Given the description of an element on the screen output the (x, y) to click on. 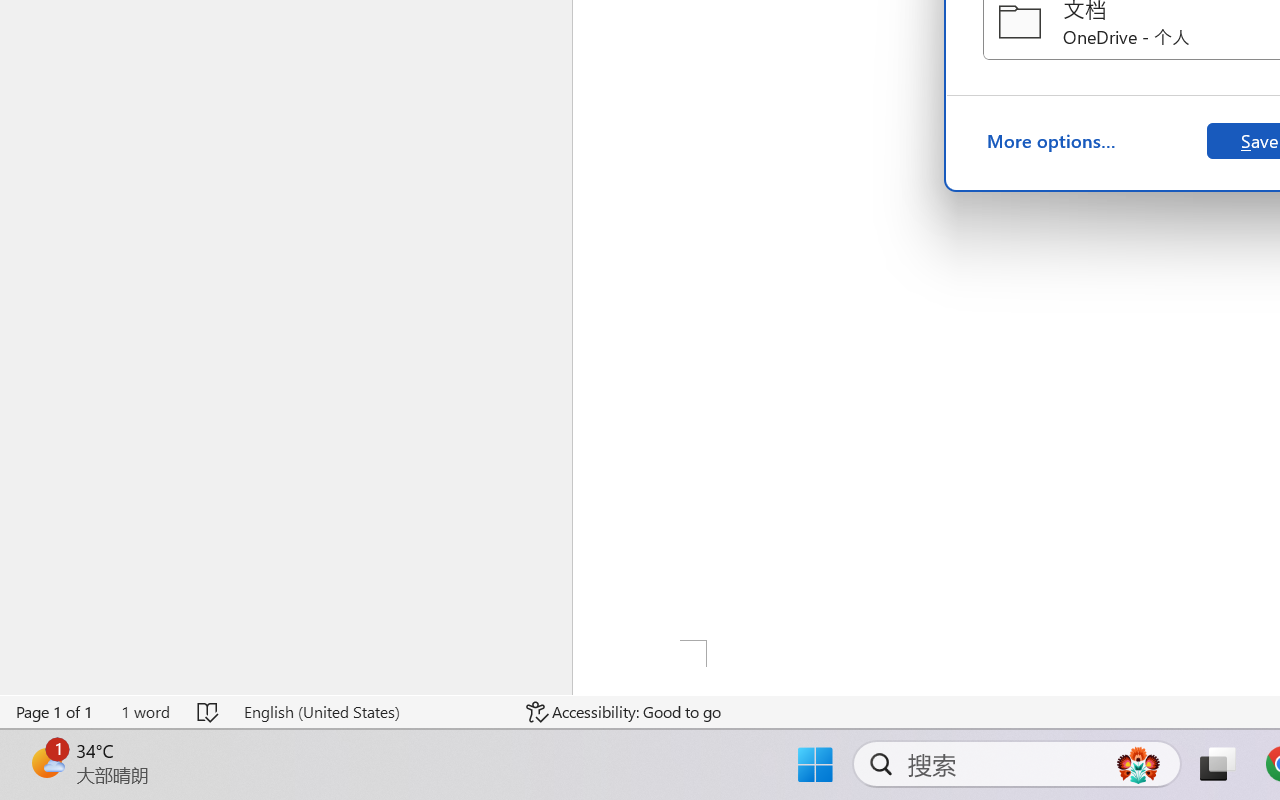
Page Number Page 1 of 1 (55, 712)
Spelling and Grammar Check No Errors (208, 712)
Language English (United States) (370, 712)
Word Count 1 word (145, 712)
AutomationID: BadgeAnchorLargeTicker (46, 762)
AutomationID: DynamicSearchBoxGleamImage (1138, 764)
Accessibility Checker Accessibility: Good to go (623, 712)
